Given the description of an element on the screen output the (x, y) to click on. 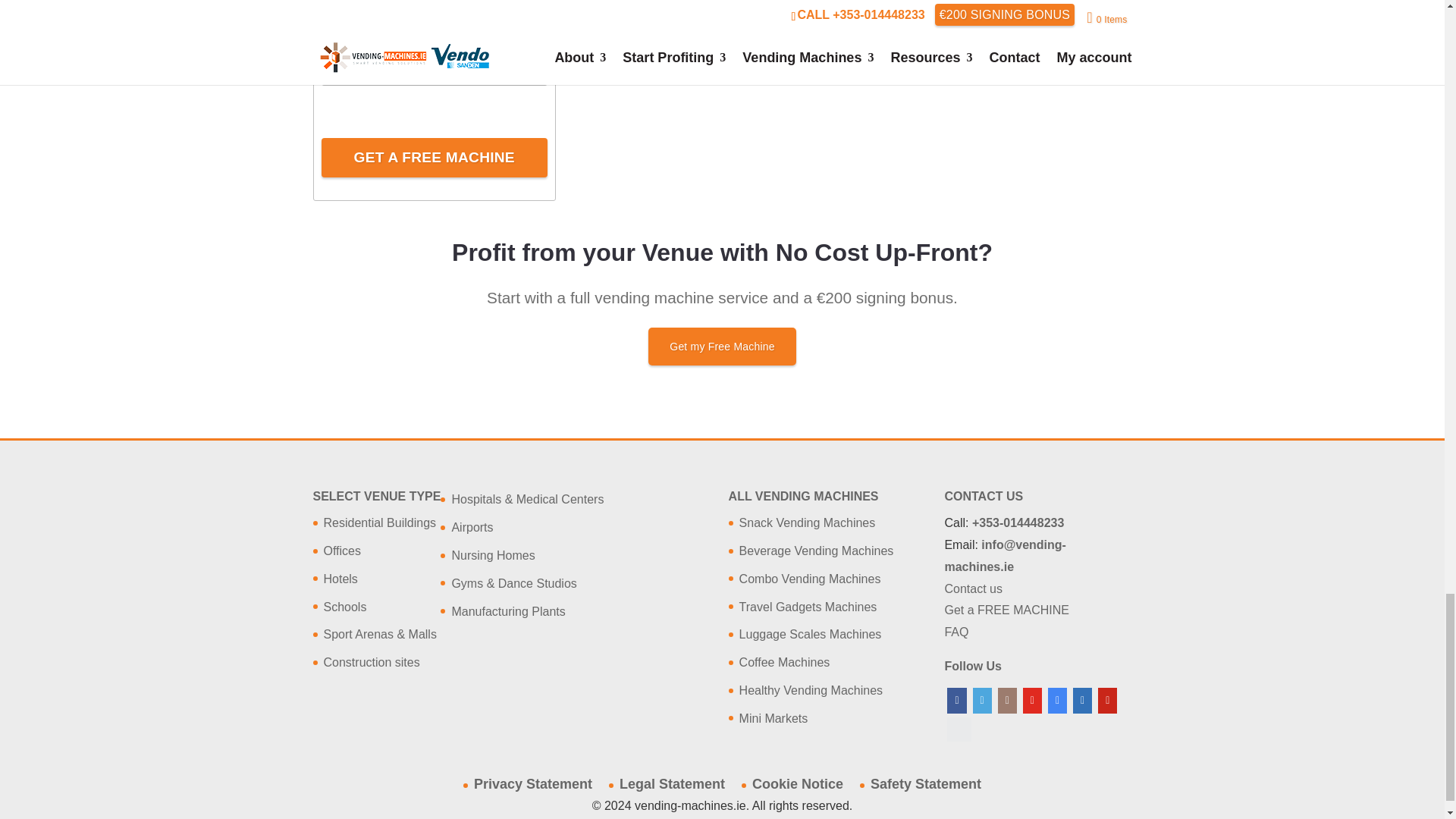
GET A FREE MACHINE (434, 157)
